Given the description of an element on the screen output the (x, y) to click on. 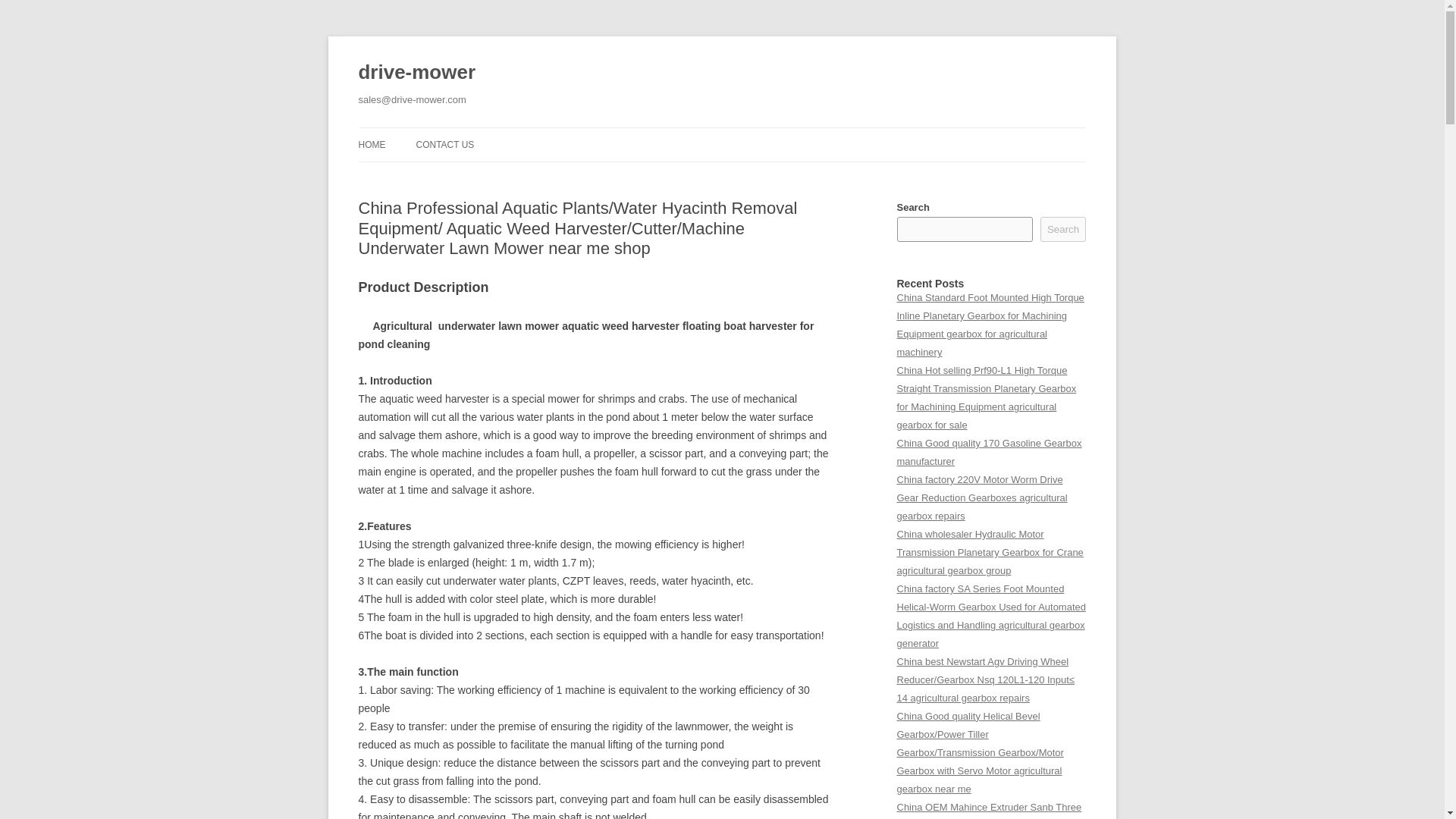
CONTACT US (444, 144)
drive-mower (417, 72)
Search (1063, 229)
China Good quality 170 Gasoline Gearbox manufacturer (988, 451)
drive-mower (417, 72)
